Given the description of an element on the screen output the (x, y) to click on. 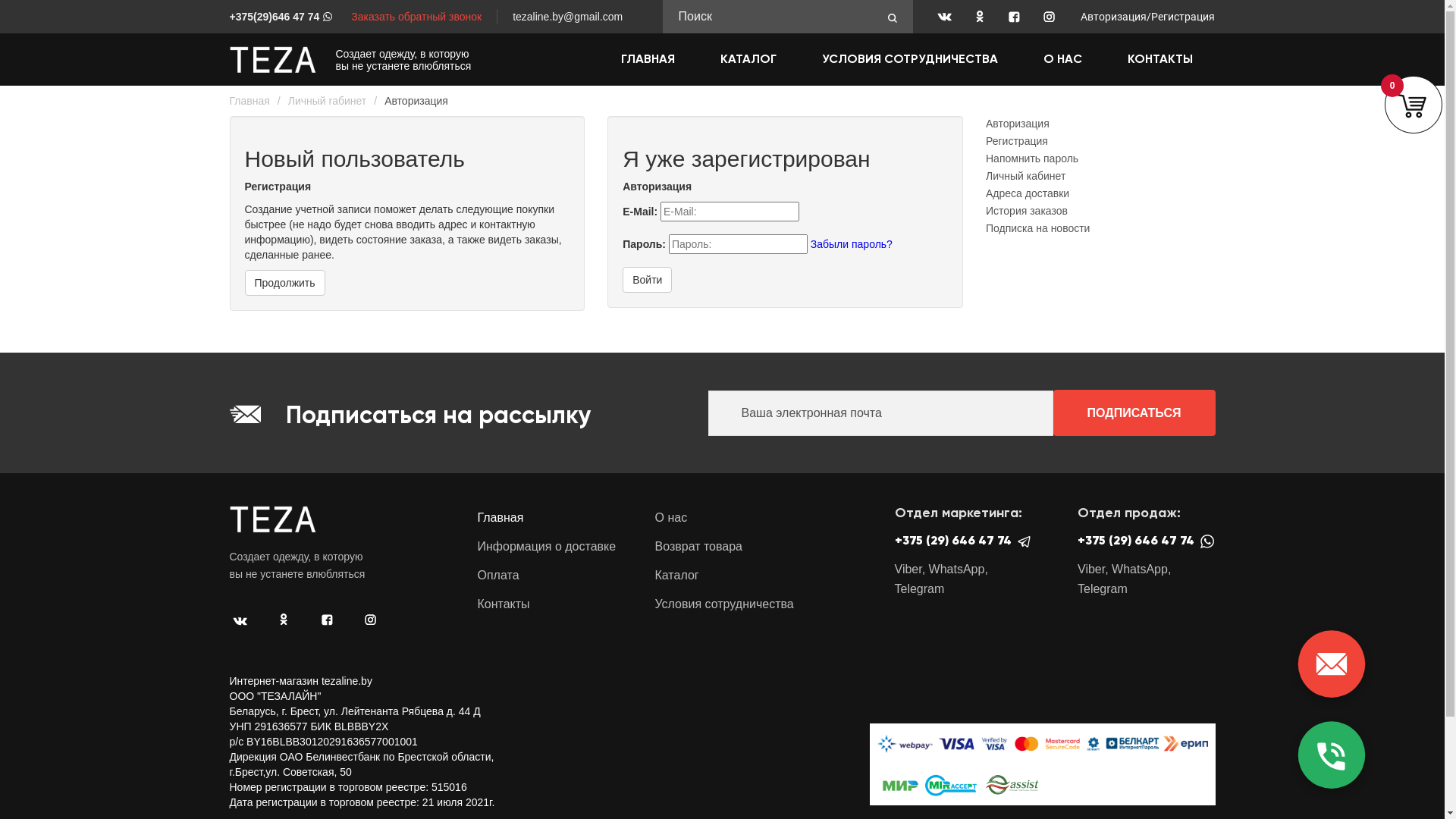
tezaline.by@gmail.com Element type: text (567, 16)
+375 (29) 646 47 74 Element type: text (1146, 546)
+375 (29) 646 47 74 Element type: text (963, 546)
+375(29)646 47 74 Element type: text (282, 16)
